Given the description of an element on the screen output the (x, y) to click on. 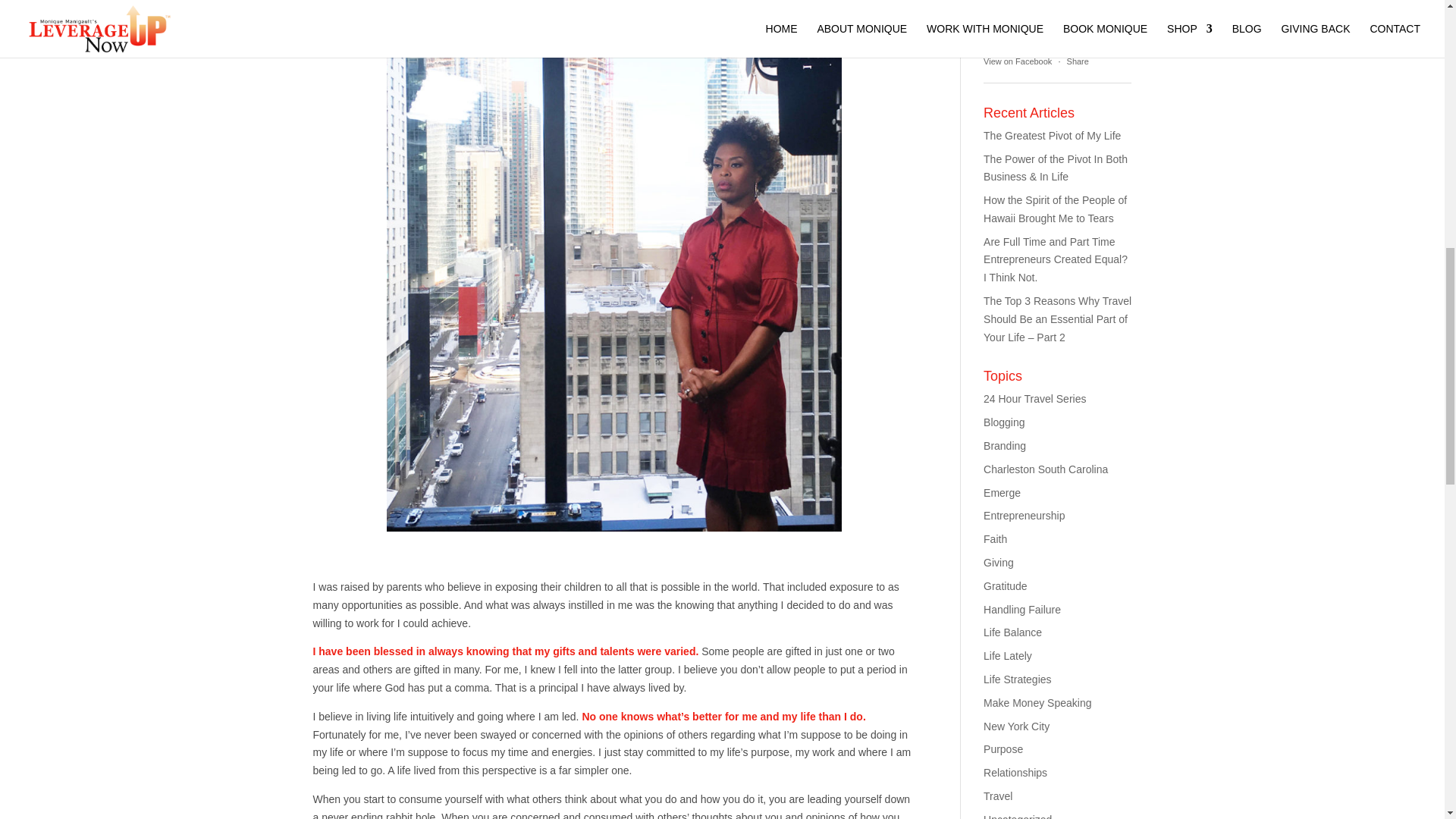
View on Facebook (1017, 61)
Share (1078, 61)
